Given the description of an element on the screen output the (x, y) to click on. 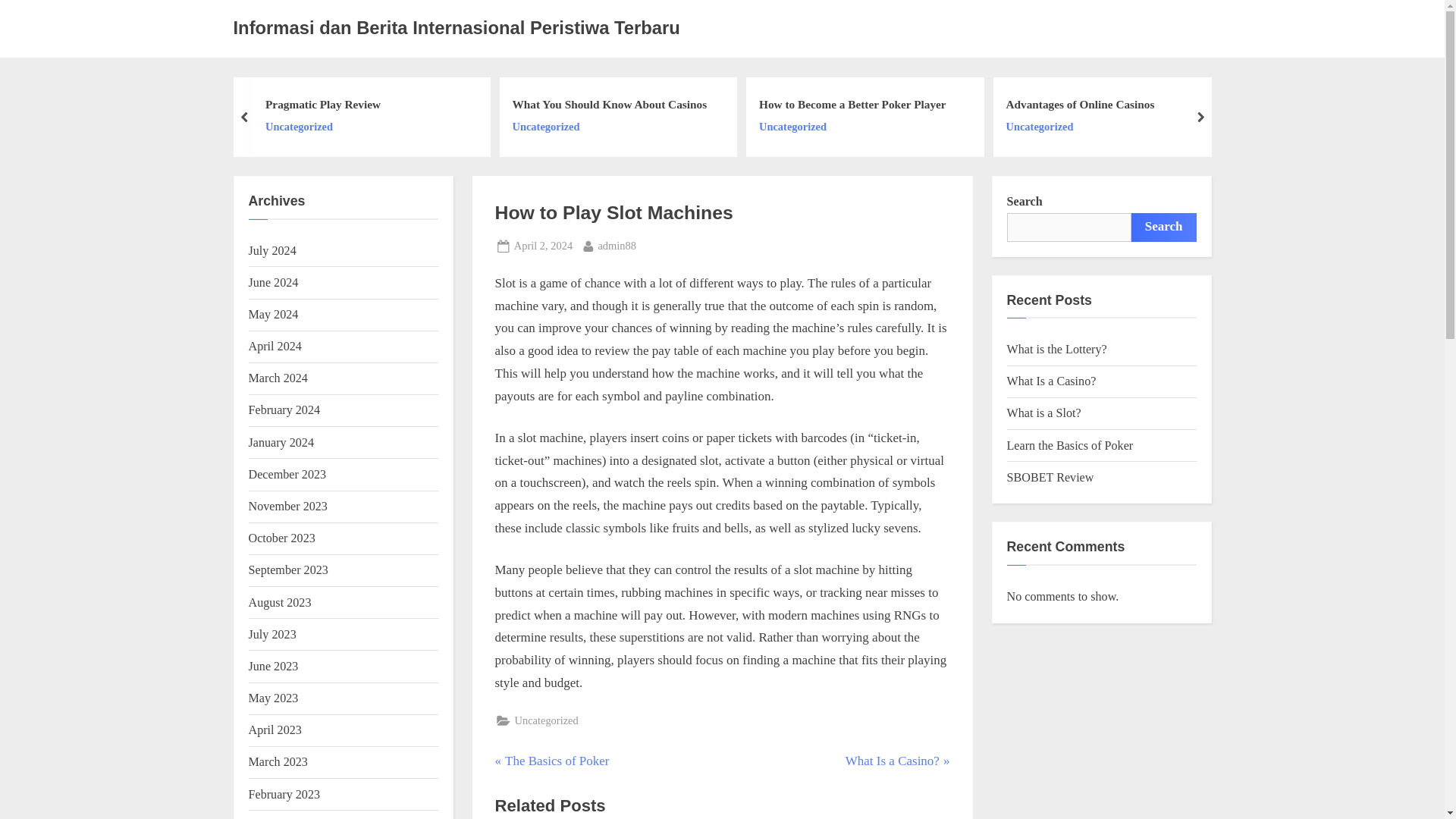
Advantages of Online Casinos (1080, 105)
Uncategorized (609, 126)
Uncategorized (322, 126)
Informasi dan Berita Internasional Peristiwa Terbaru (455, 27)
What You Should Know About Casinos (616, 245)
Uncategorized (609, 105)
Pragmatic Play Review (1080, 126)
Uncategorized (322, 105)
How to Become a Better Poker Player (542, 245)
Uncategorized (851, 126)
